Given the description of an element on the screen output the (x, y) to click on. 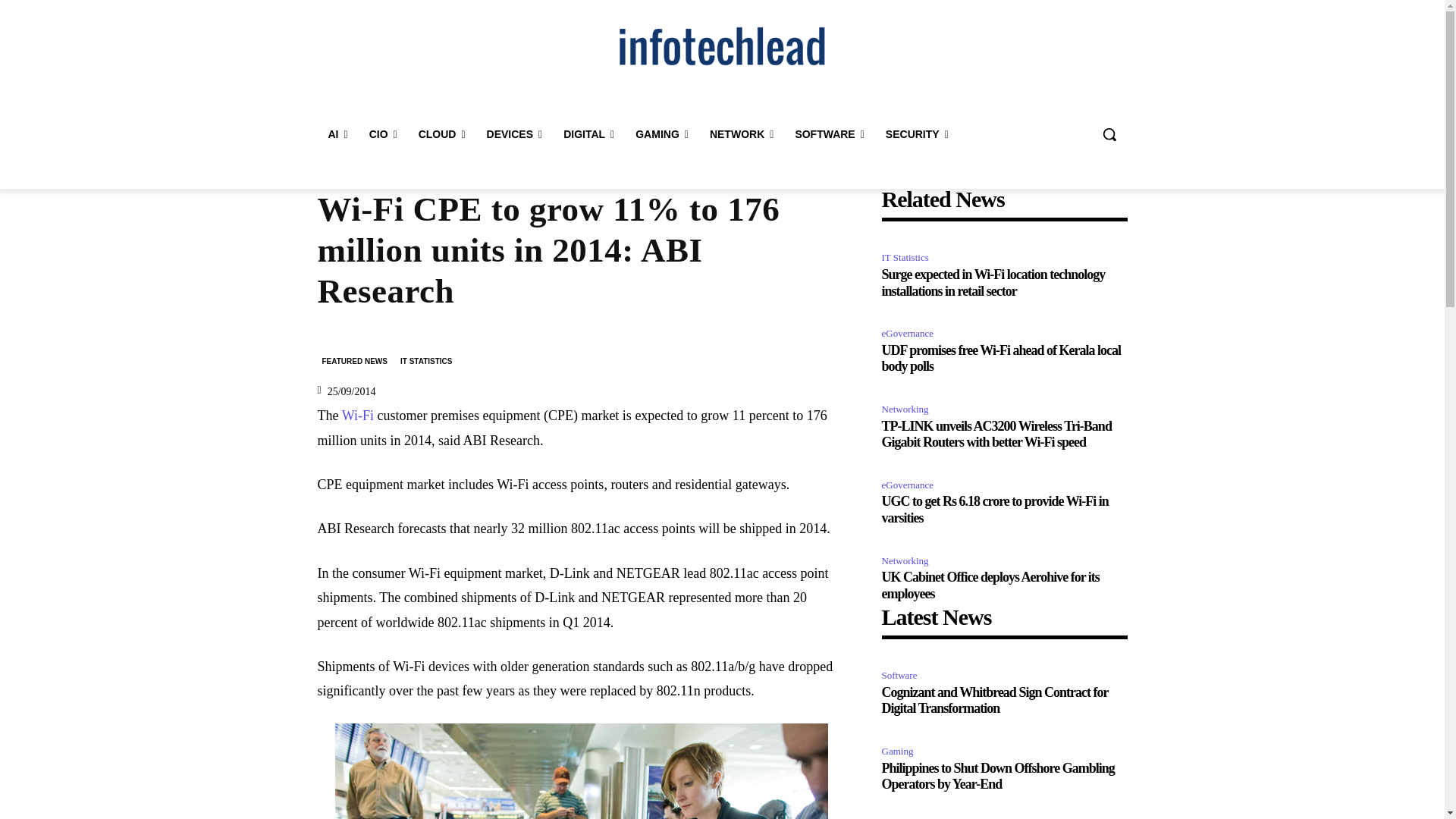
AI (337, 134)
CIO (382, 134)
